Given the description of an element on the screen output the (x, y) to click on. 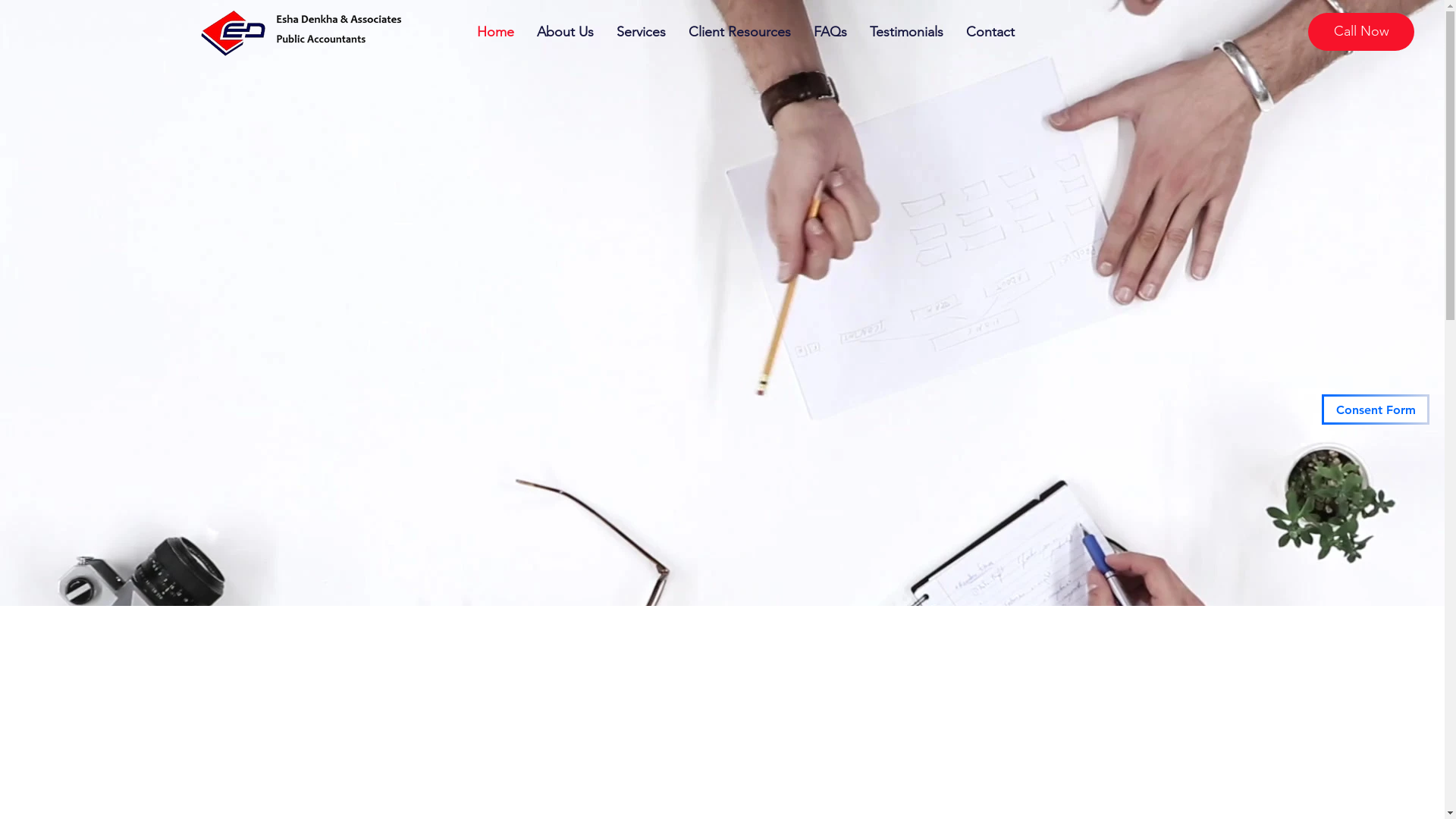
FAQs Element type: text (830, 31)
Consent Form Element type: text (1375, 409)
Testimonials Element type: text (906, 31)
Client Resources Element type: text (738, 31)
Contact Element type: text (989, 31)
Home Element type: text (495, 31)
Call Now Element type: text (1361, 31)
Services Element type: text (641, 31)
About Us Element type: text (564, 31)
